Given the description of an element on the screen output the (x, y) to click on. 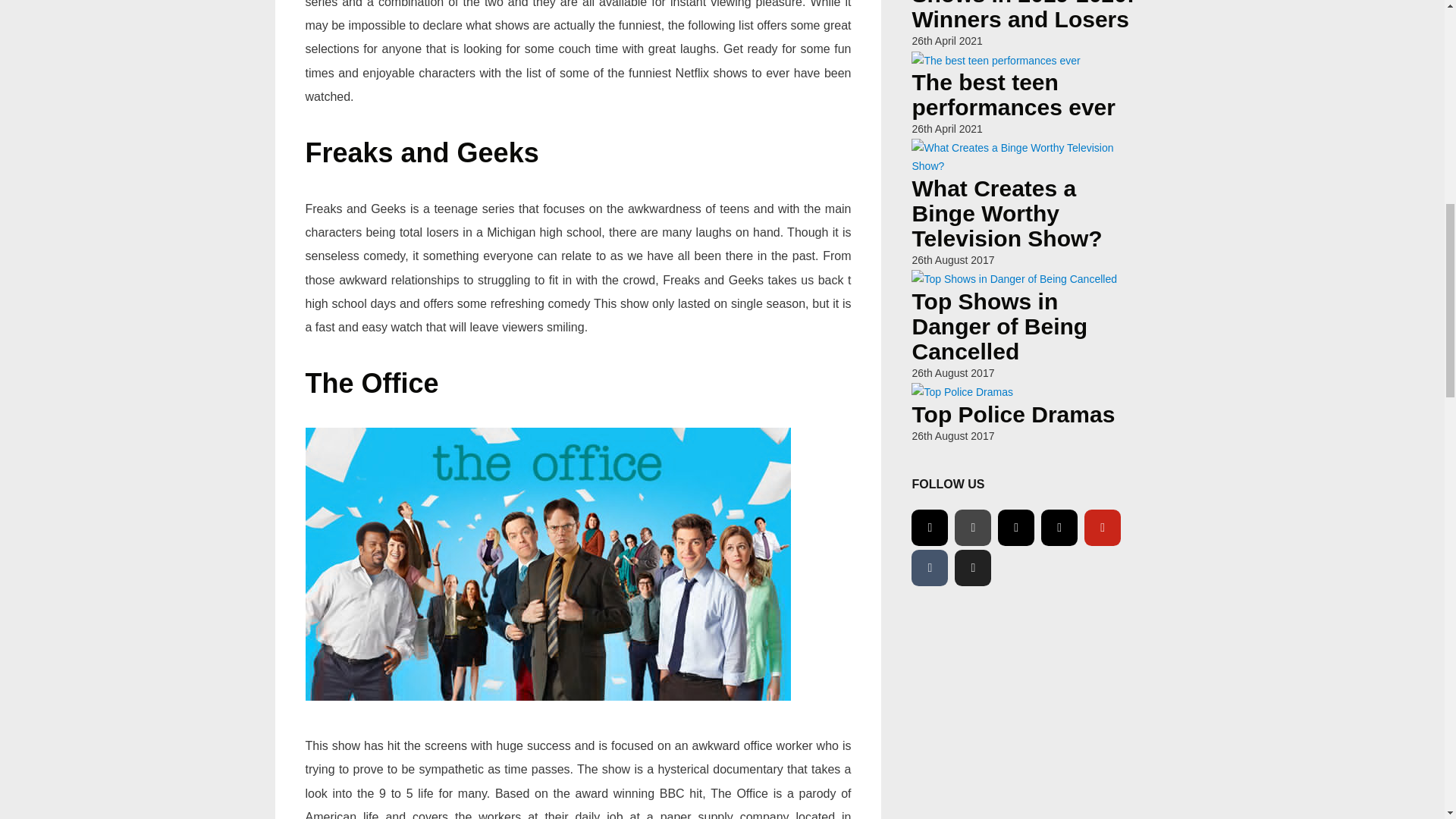
Ello (1015, 527)
Most Watched TV Shows in 2019-2020: Winners and Losers (1022, 15)
tumblr (929, 567)
Medium (1059, 527)
Pinterest (1102, 527)
Instagram (929, 527)
The best teen performances ever (1013, 94)
WordPress (973, 527)
